Given the description of an element on the screen output the (x, y) to click on. 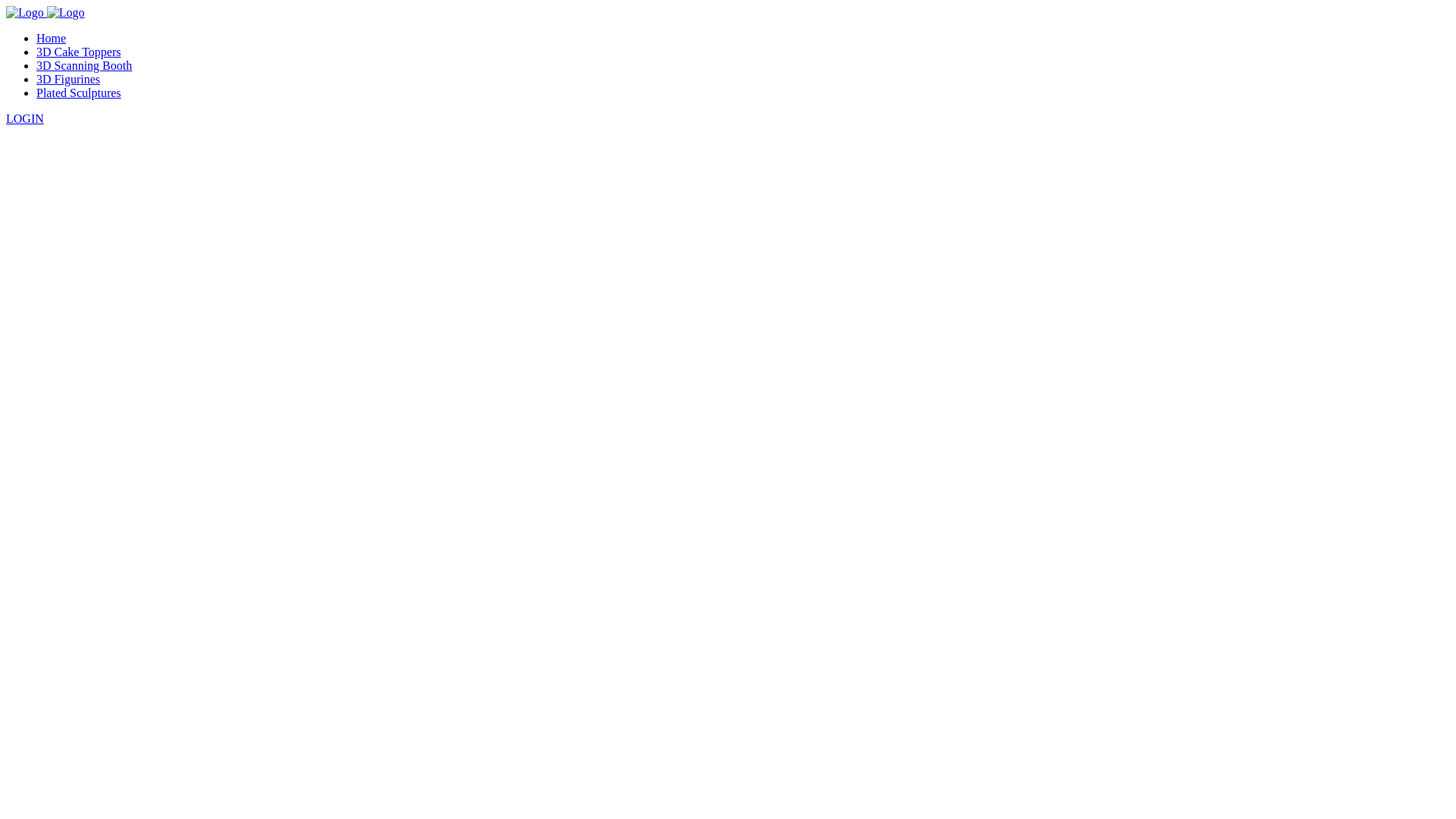
Plated Sculptures Element type: text (78, 92)
3D Cake Toppers Element type: text (78, 51)
3D Figurines Element type: text (68, 78)
3D Avatar Logo Element type: hover (24, 12)
3D Scanning Booth Element type: text (83, 65)
3D Avatar Text Element type: hover (65, 12)
Home Element type: text (50, 37)
LOGIN Element type: text (24, 118)
